Given the description of an element on the screen output the (x, y) to click on. 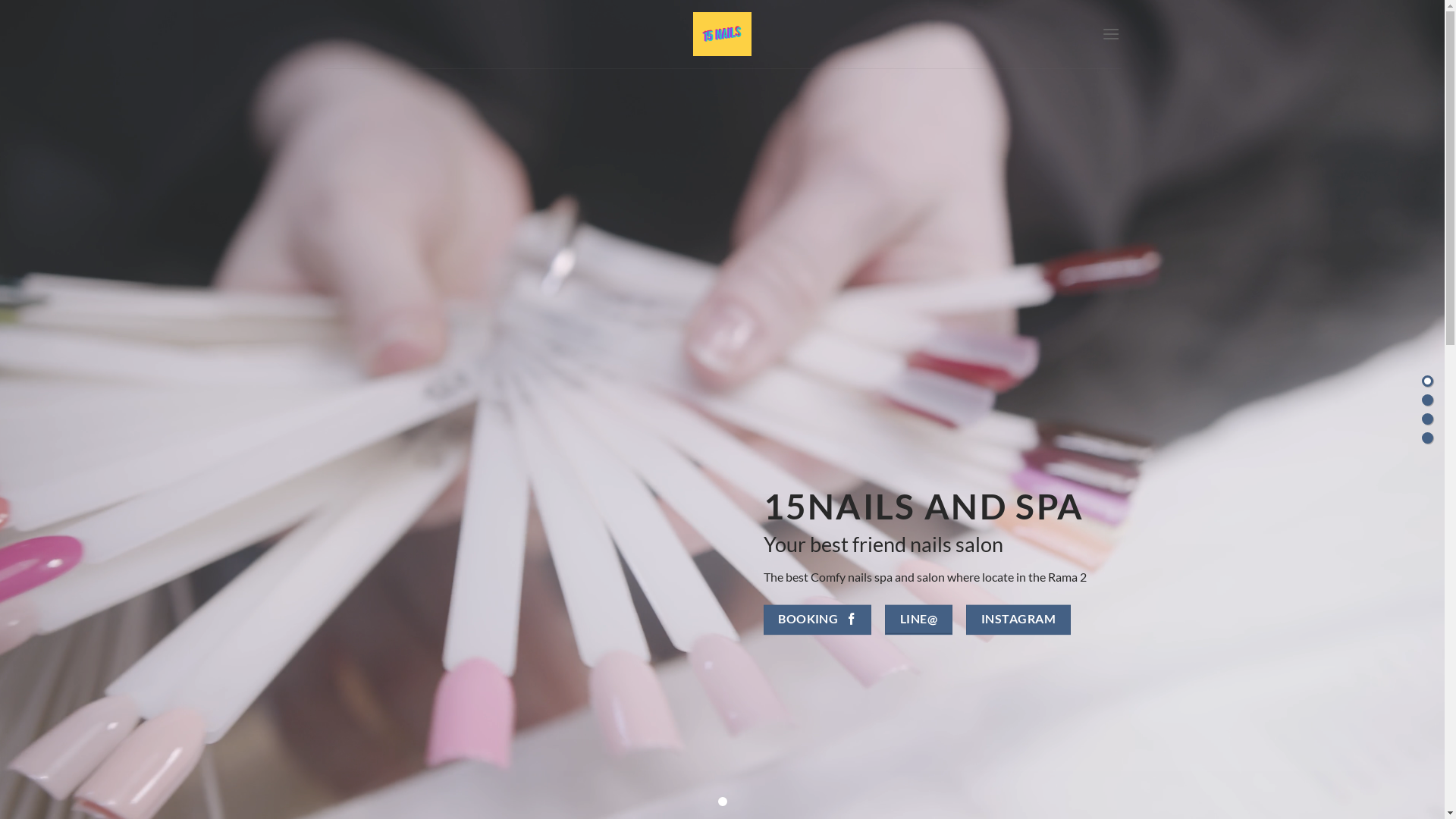
INSTAGRAM Element type: text (1018, 619)
BOOKING Element type: text (816, 619)
15nailsandspa Element type: hover (721, 34)
LINE@ Element type: text (918, 619)
